Given the description of an element on the screen output the (x, y) to click on. 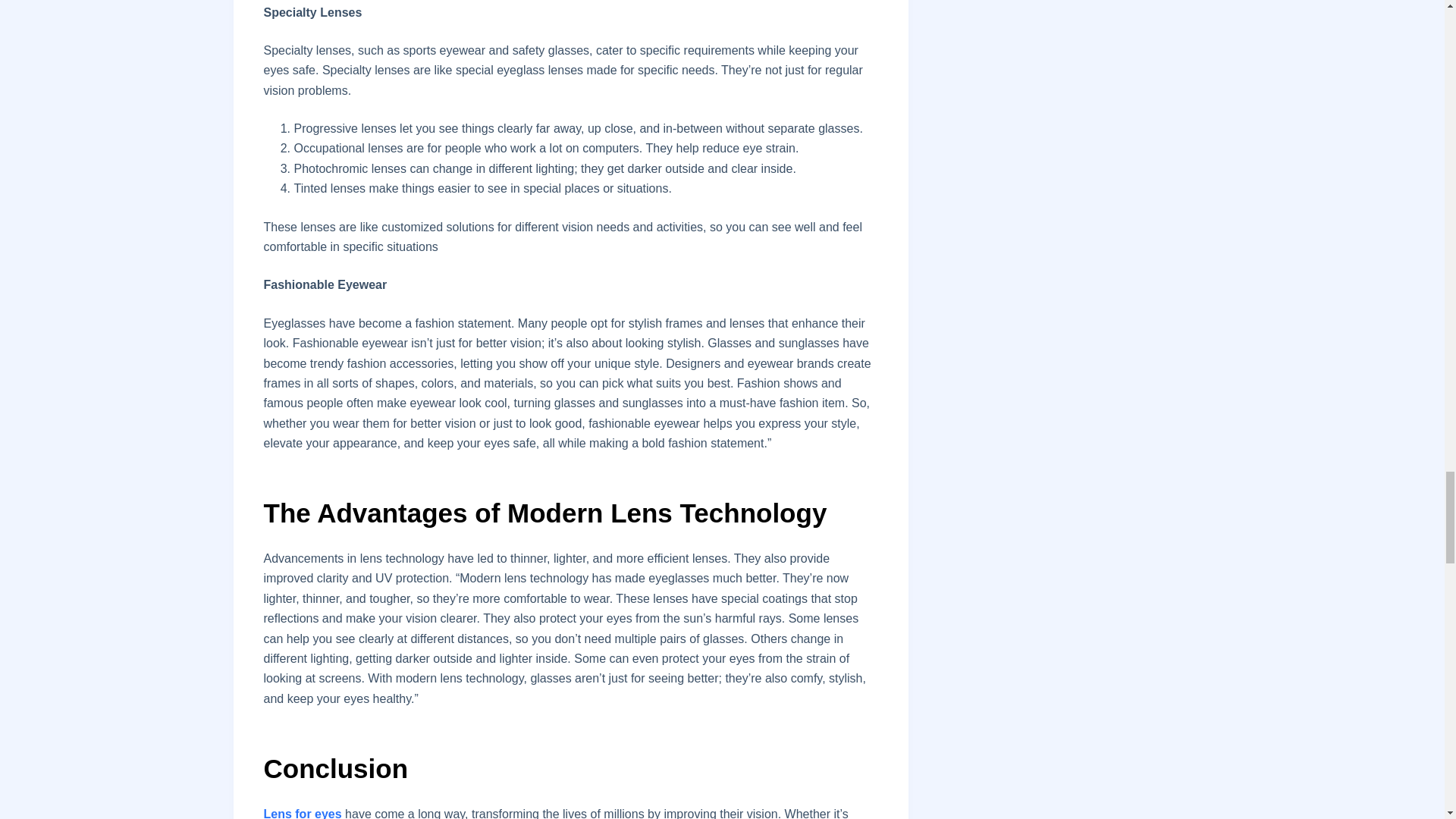
Lens for eyes (302, 813)
